Given the description of an element on the screen output the (x, y) to click on. 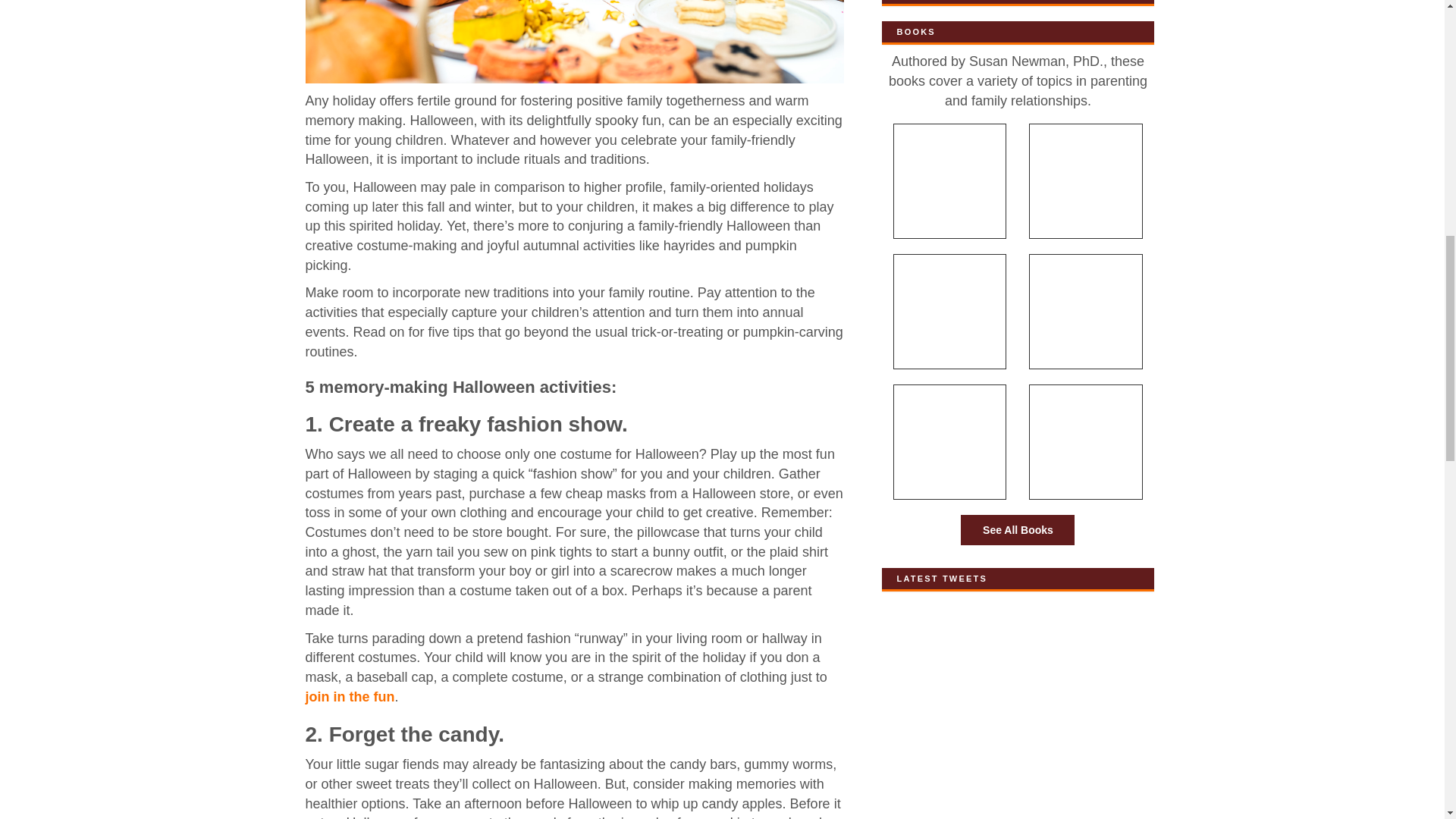
join in the fun (349, 696)
